Given the description of an element on the screen output the (x, y) to click on. 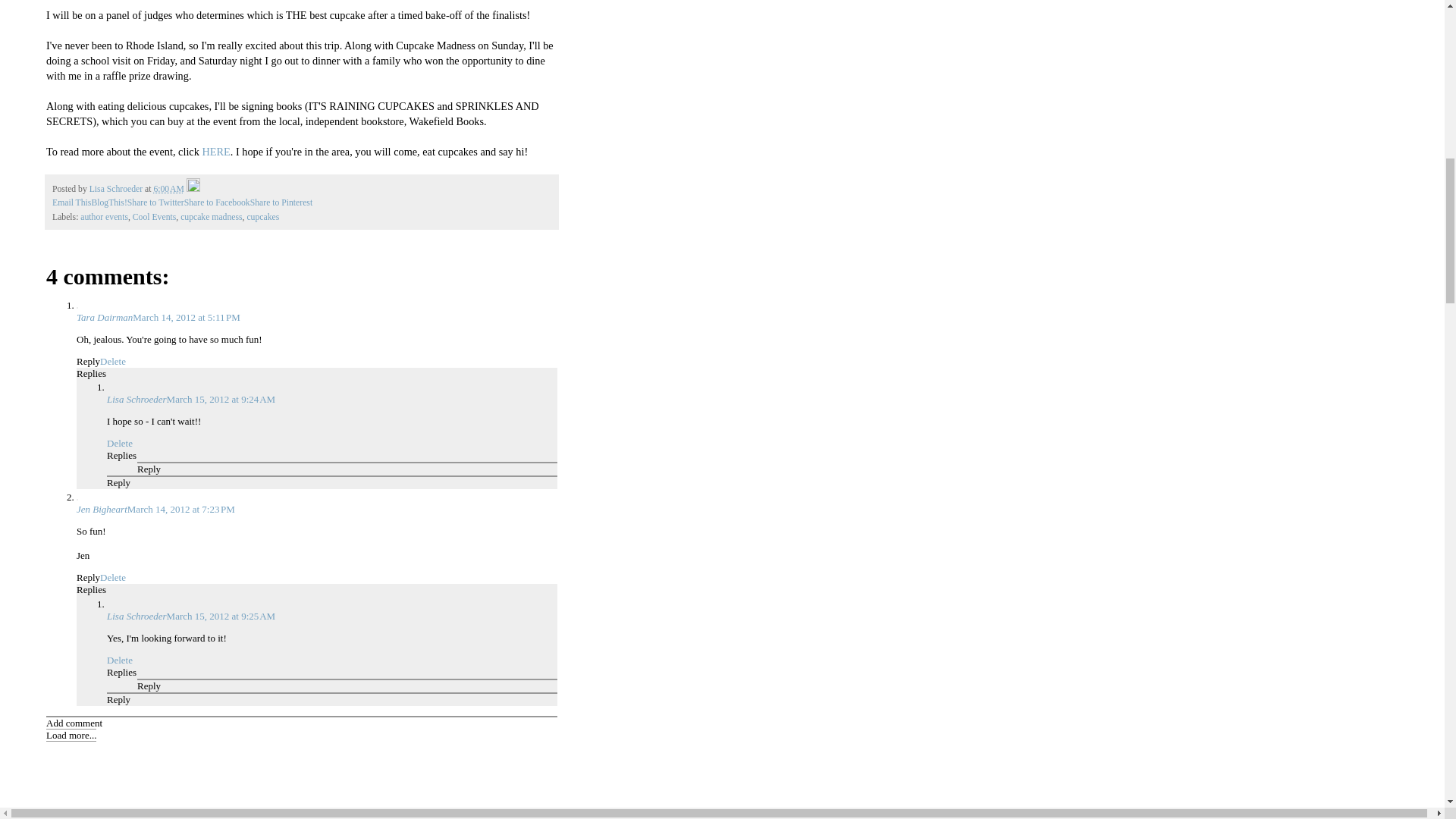
Share to Facebook (217, 203)
Edit Post (193, 189)
Replies (121, 455)
author profile (116, 189)
Email This (71, 203)
BlogThis! (108, 203)
BlogThis! (108, 203)
Tara Dairman (104, 317)
Delete (112, 577)
Delete (119, 442)
Cool Events (154, 216)
cupcakes (262, 216)
Share to Facebook (217, 203)
author events (104, 216)
